Given the description of an element on the screen output the (x, y) to click on. 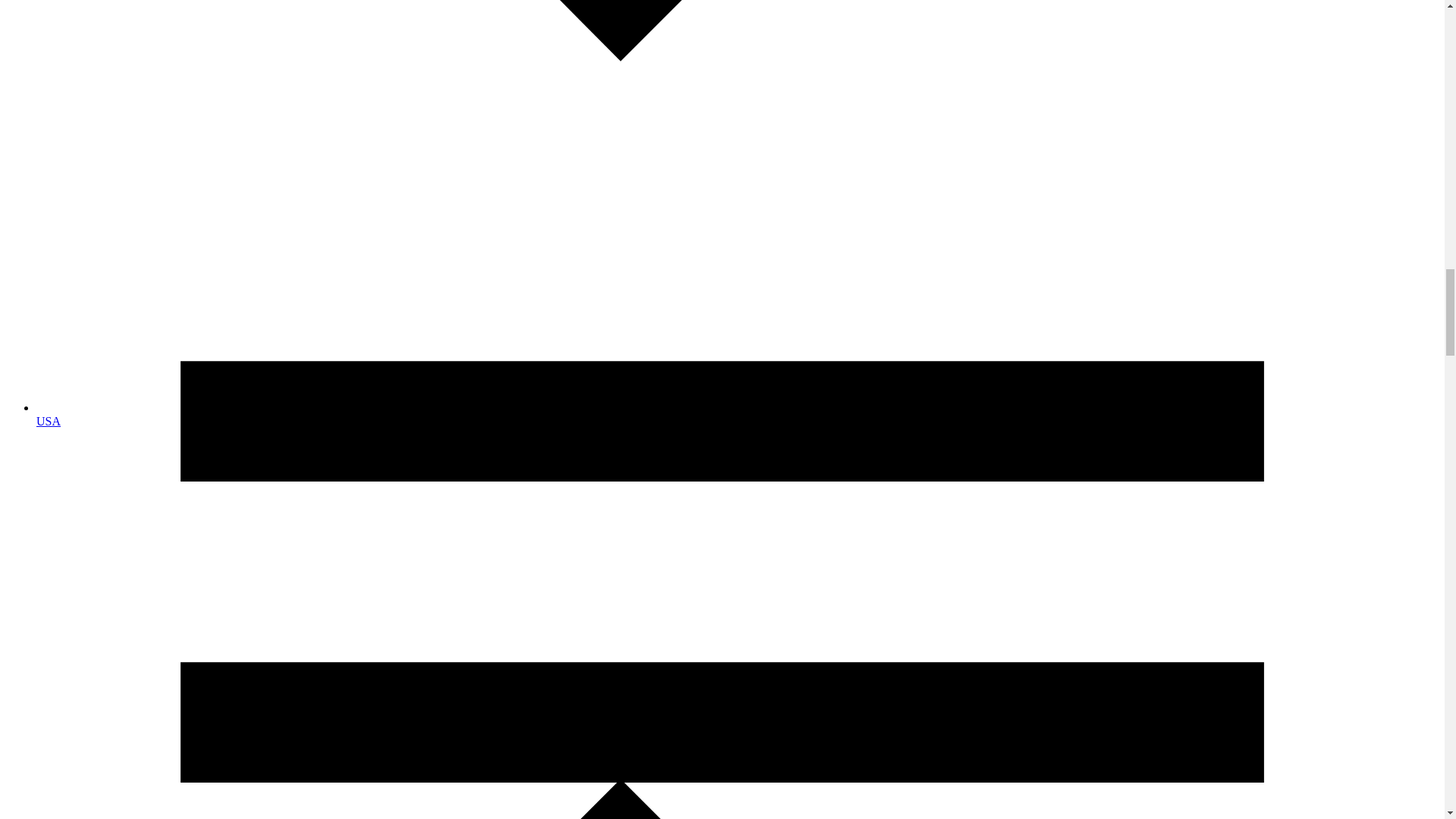
USA (48, 420)
